Given the description of an element on the screen output the (x, y) to click on. 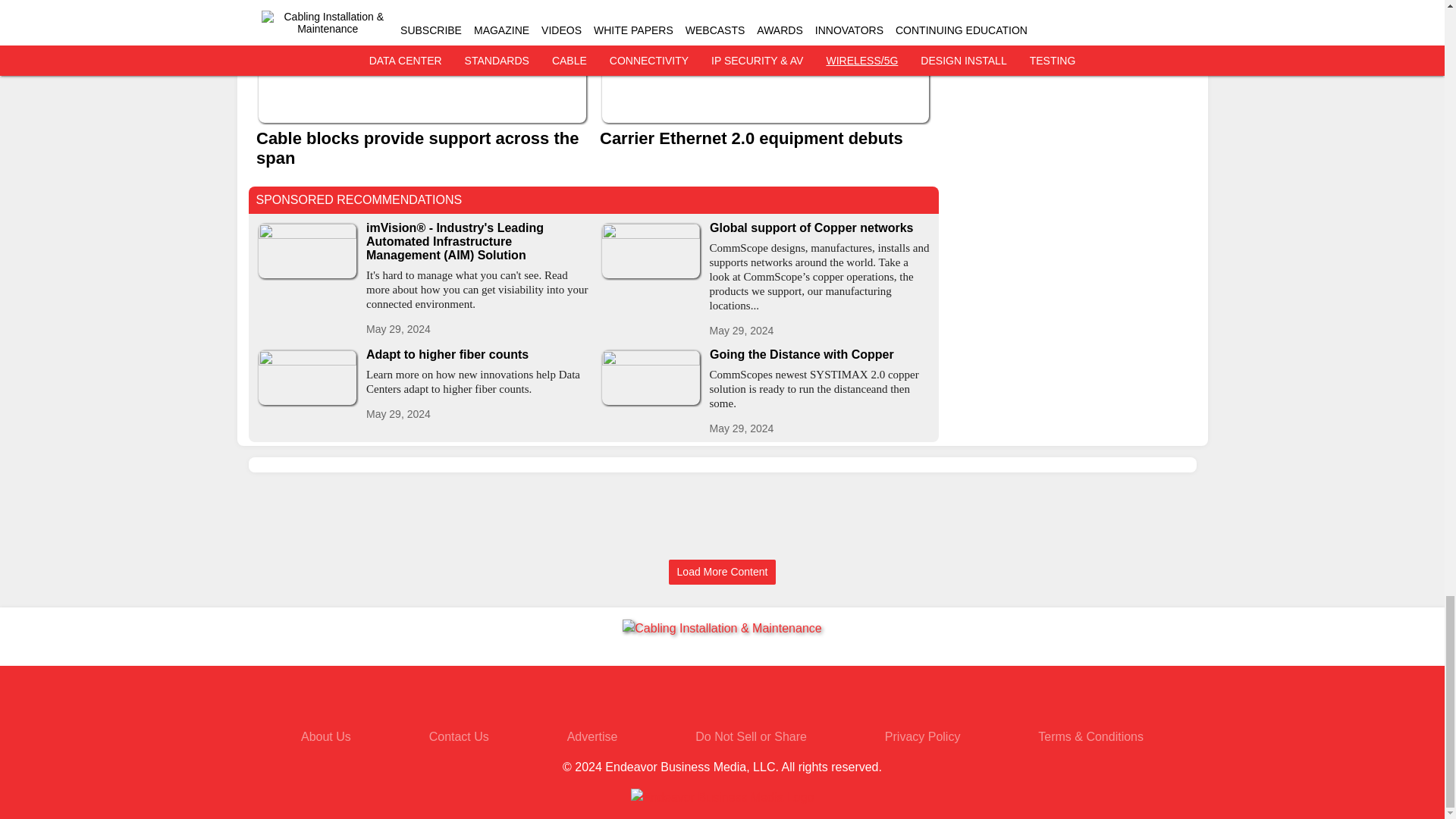
Global support of Copper networks (820, 228)
Cable blocks provide support across the span (422, 147)
Carrier Ethernet 2.0 equipment debuts (764, 137)
